Given the description of an element on the screen output the (x, y) to click on. 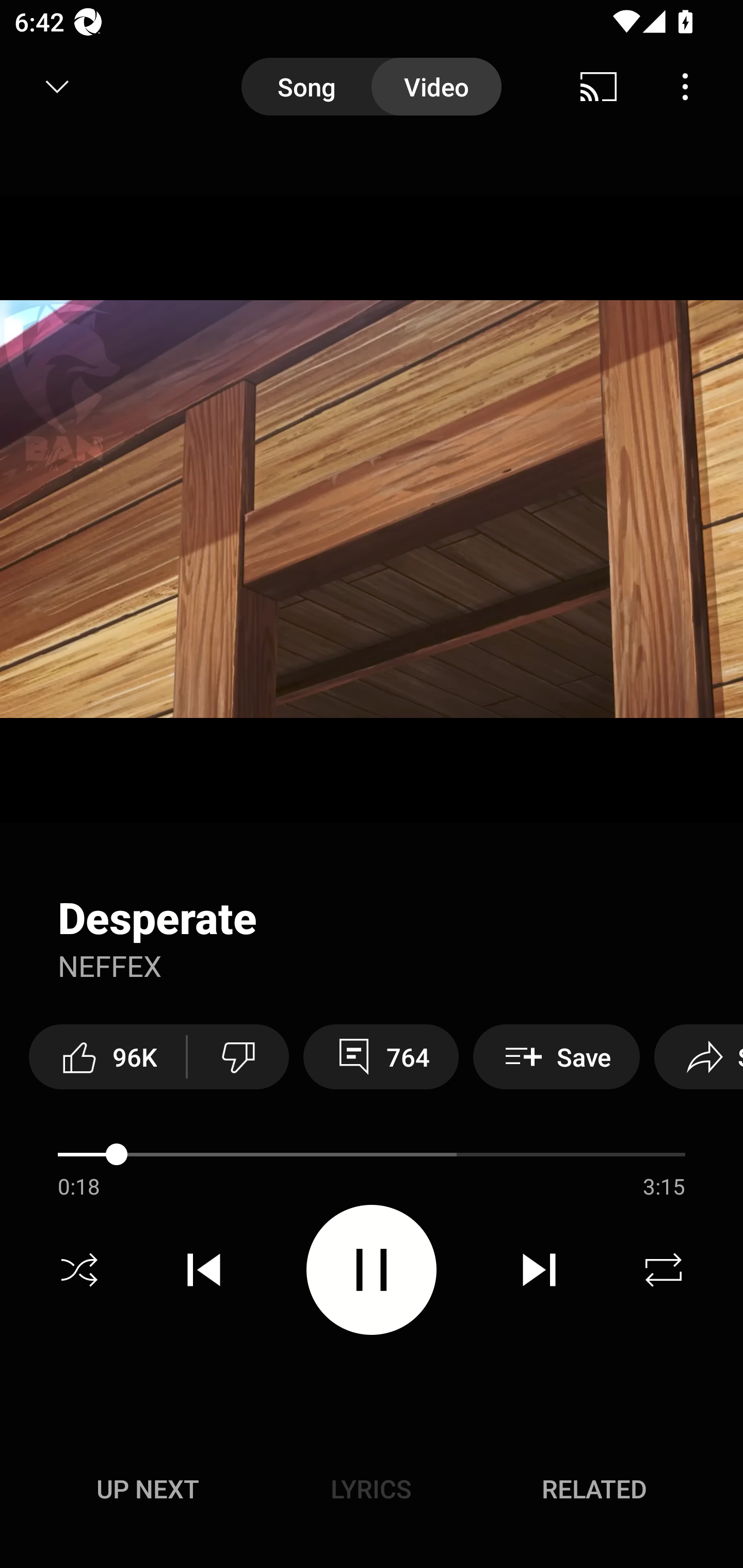
Minimize (57, 86)
Cast. Disconnected (598, 86)
Menu (684, 86)
96K like this video along with 96,234 other people (106, 1056)
Dislike (238, 1056)
764 View 764 comments (380, 1056)
Save Save to playlist (556, 1056)
Share (698, 1056)
Pause video (371, 1269)
Shuffle off (79, 1269)
Previous track (203, 1269)
Next track (538, 1269)
Repeat off (663, 1269)
Up next UP NEXT Lyrics LYRICS Related RELATED (371, 1491)
Lyrics LYRICS (370, 1488)
Related RELATED (594, 1488)
